Given the description of an element on the screen output the (x, y) to click on. 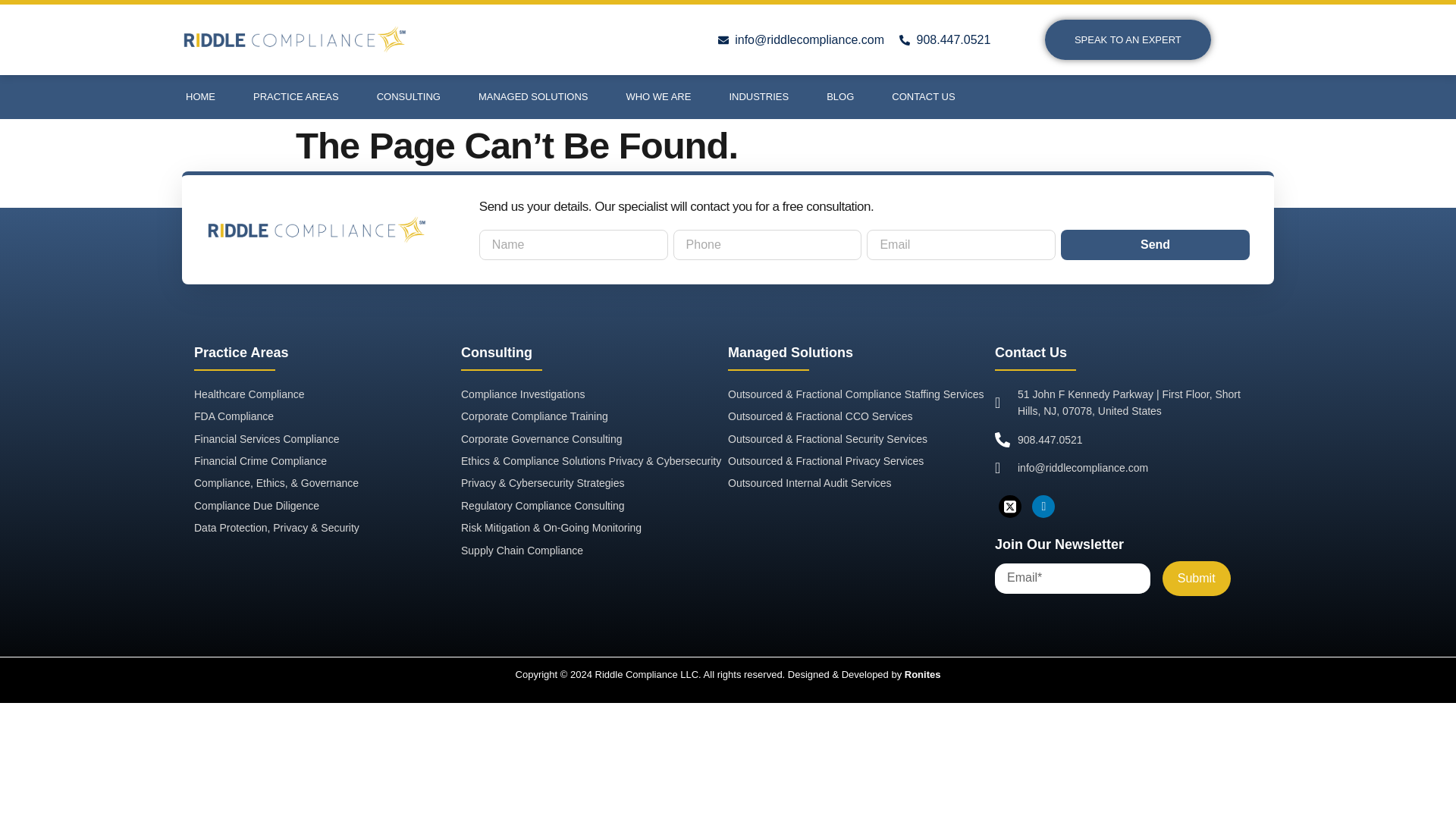
PRACTICE AREAS (296, 97)
SPEAK TO AN EXPERT (1128, 39)
HOME (200, 97)
